Given the description of an element on the screen output the (x, y) to click on. 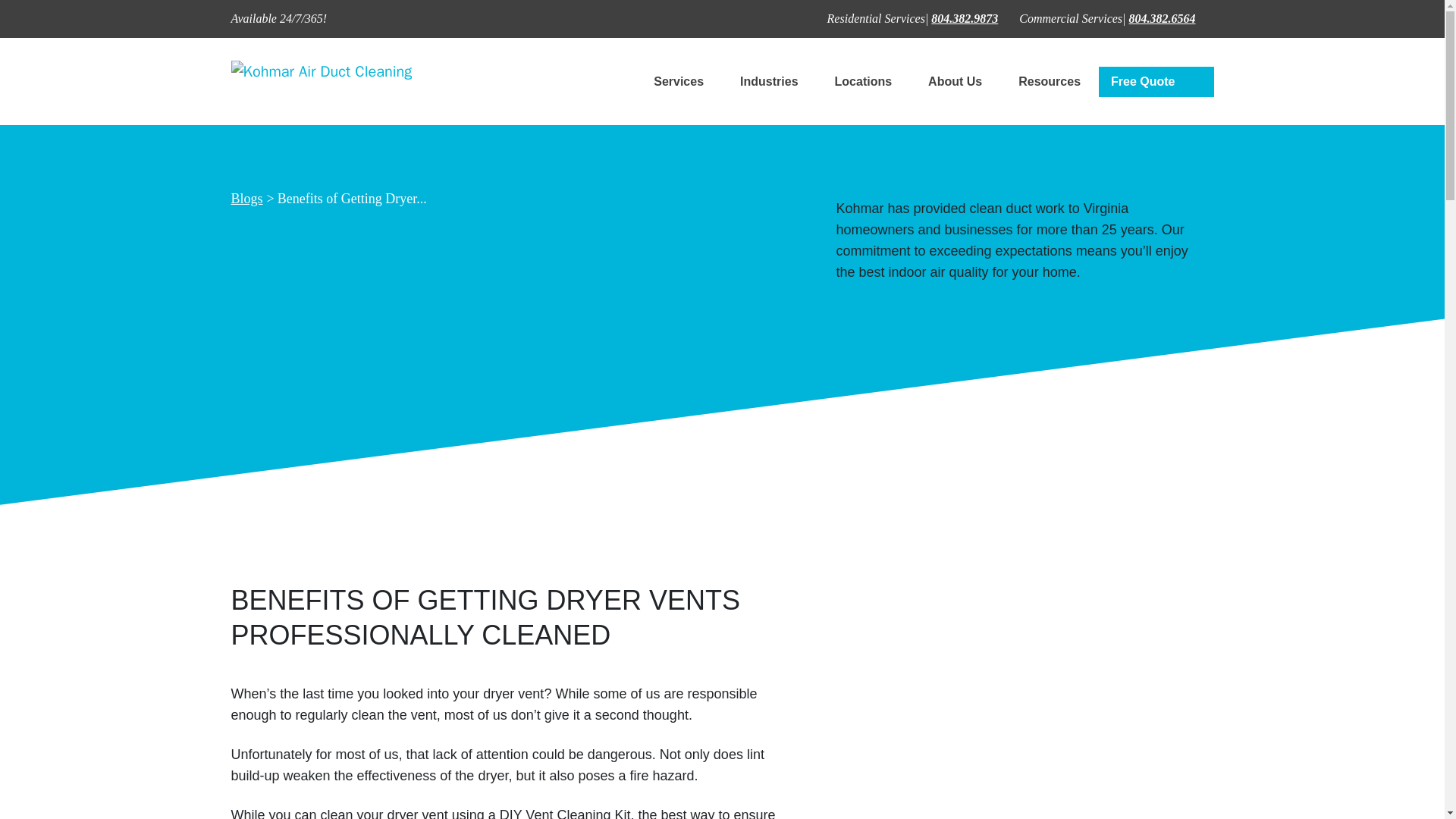
Industries (768, 80)
Blogs (246, 198)
About Us (954, 80)
Services (678, 80)
804.382.9873 (964, 18)
Free Quote (1146, 81)
Locations (863, 80)
Resources (1048, 80)
804.382.6564 (1161, 18)
Benefits of Getting Dryer Vents Professionally Cleaned (352, 198)
